Given the description of an element on the screen output the (x, y) to click on. 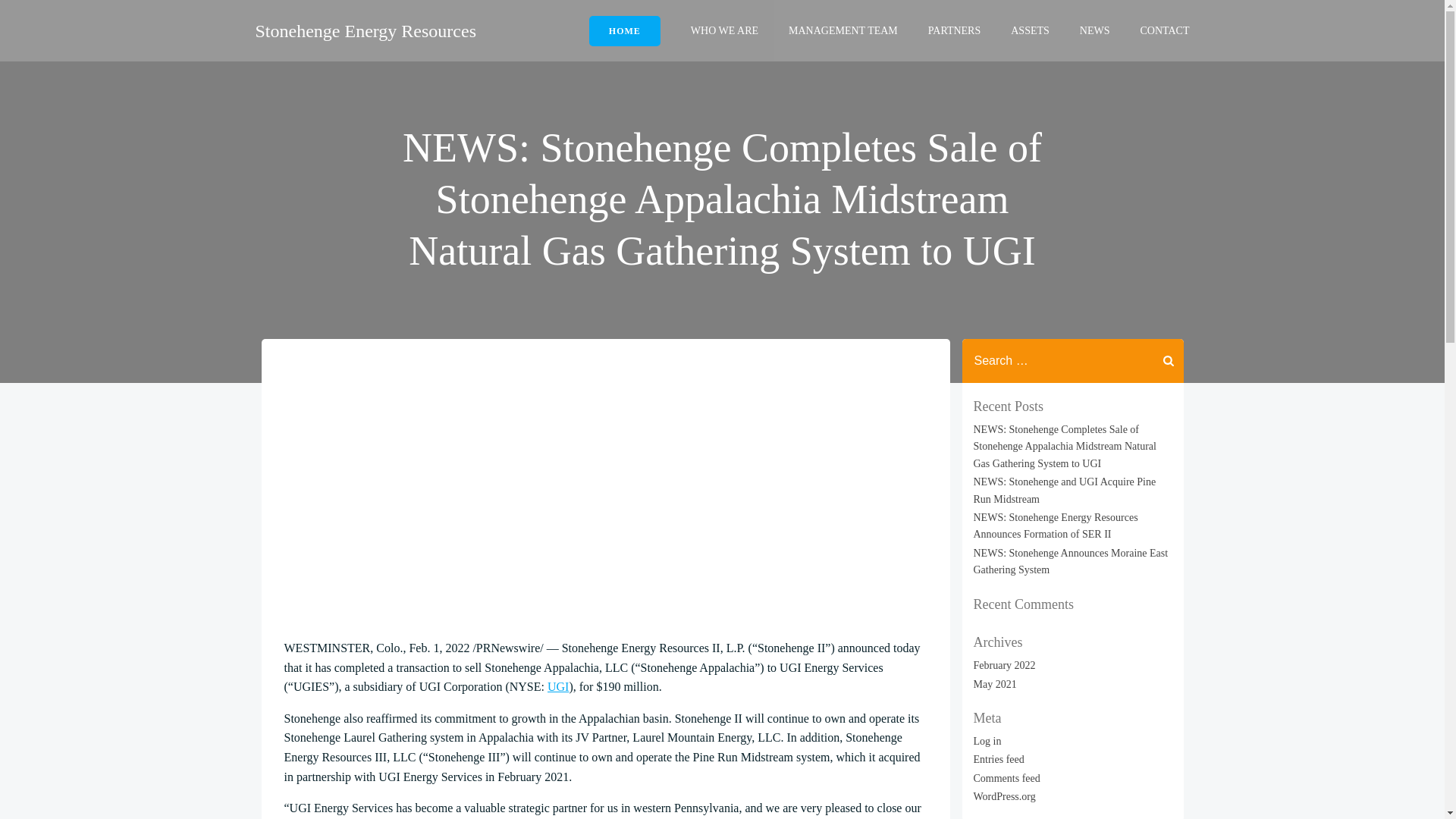
UGI (558, 686)
Stonehenge Energy Resources (365, 30)
Log in (987, 740)
ASSETS (1029, 30)
Search  (29, 22)
May 2021 (995, 684)
HOME (625, 30)
CONTACT (1164, 30)
